Given the description of an element on the screen output the (x, y) to click on. 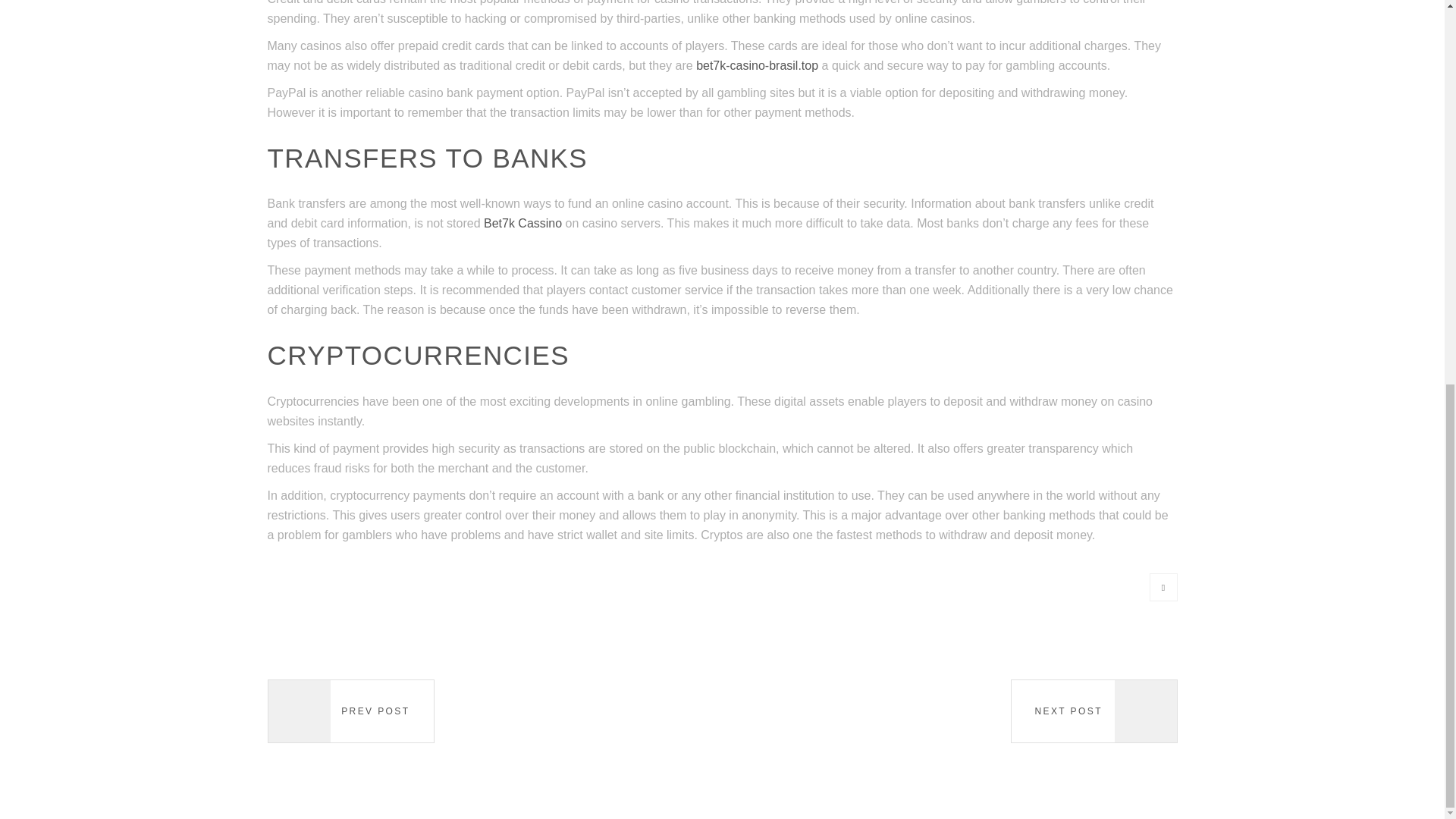
Bet7k Cassino (522, 223)
PREV POST (349, 710)
bet7k-casino-brasil.top (756, 65)
